Given the description of an element on the screen output the (x, y) to click on. 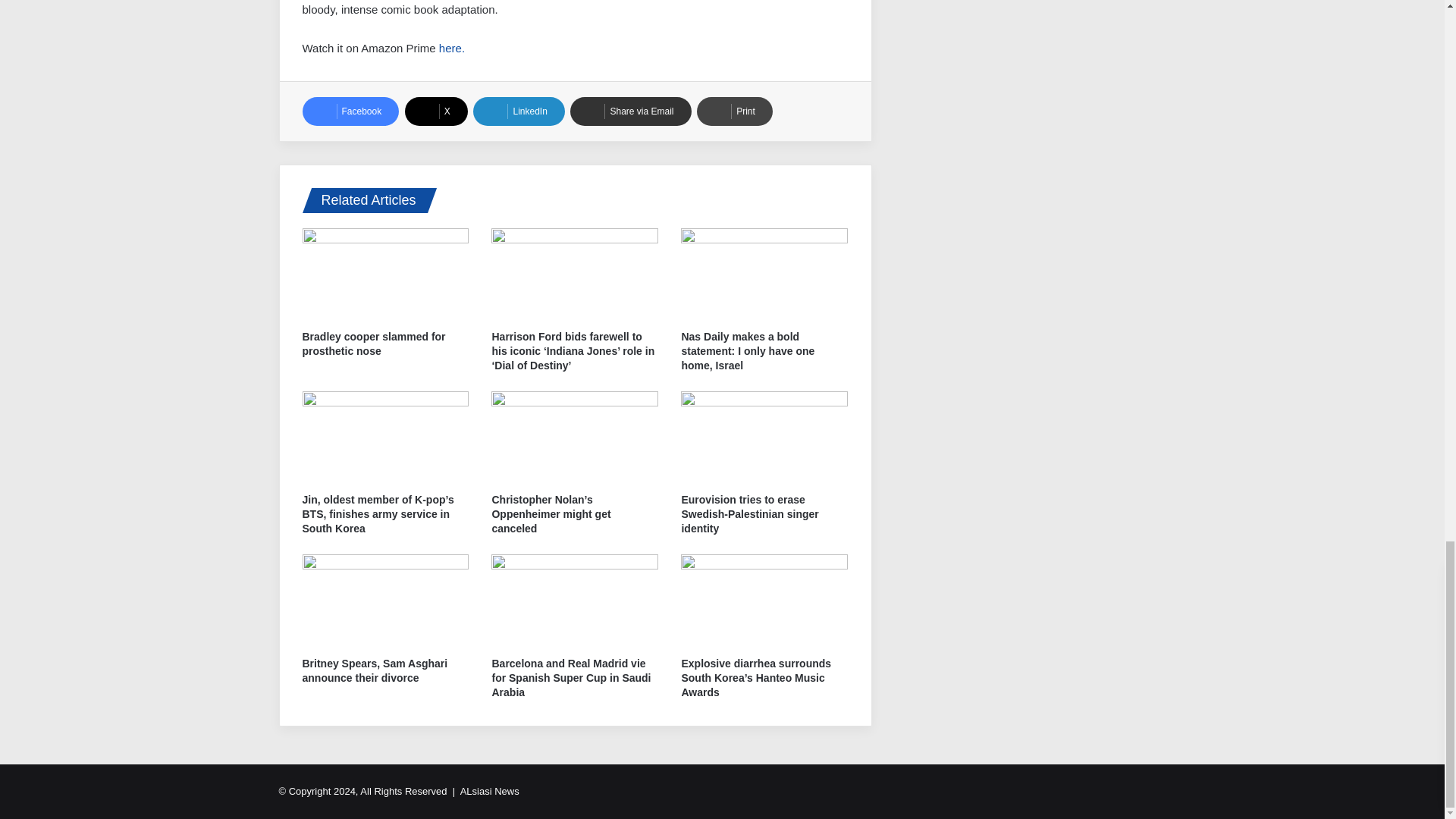
Share via Email (630, 111)
Print (735, 111)
Share via Email (630, 111)
Facebook (349, 111)
X (435, 111)
LinkedIn (518, 111)
Facebook (349, 111)
Print (735, 111)
here.  (453, 47)
